Given the description of an element on the screen output the (x, y) to click on. 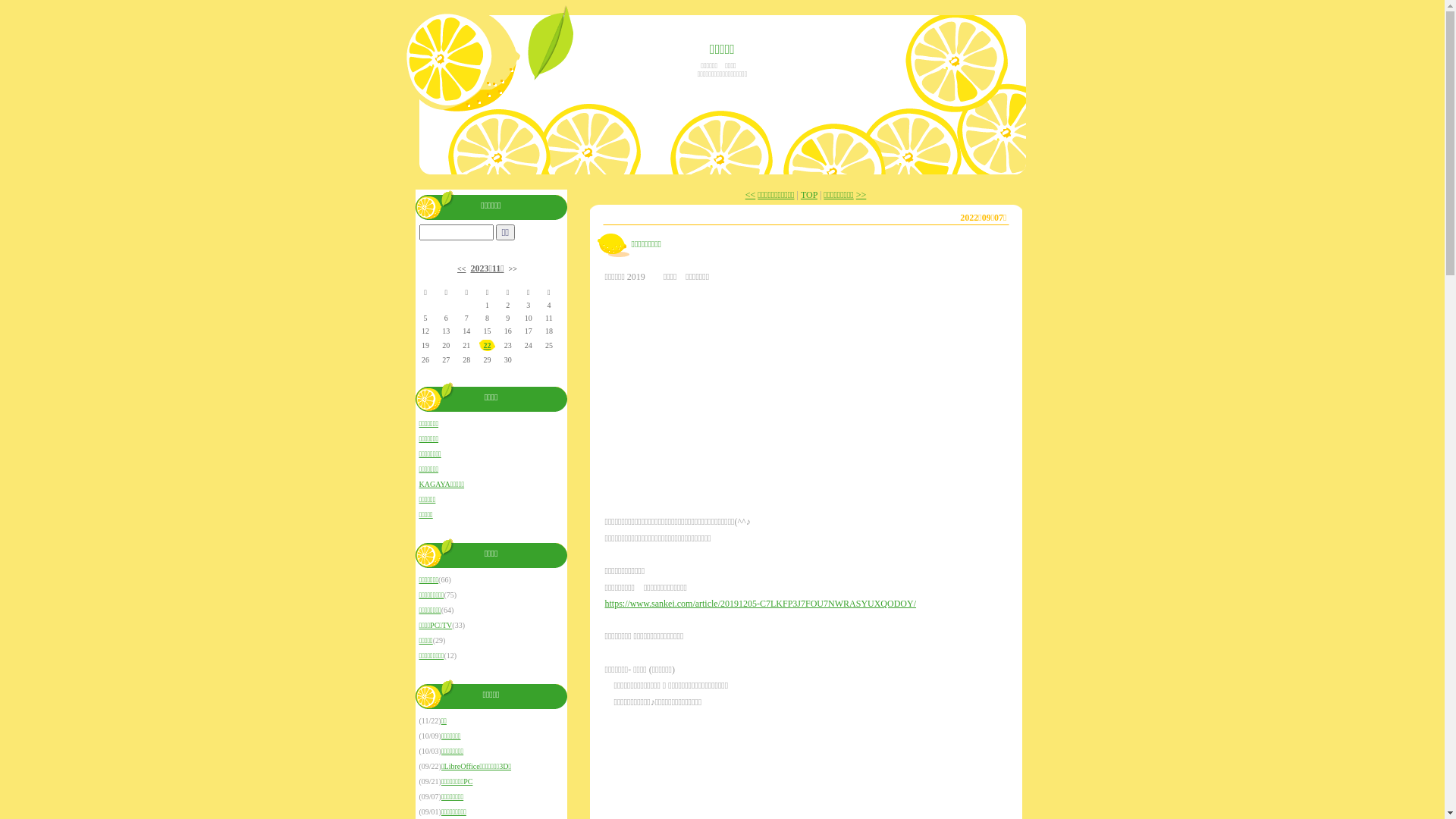
TOP Element type: text (808, 194)
>> Element type: text (861, 194)
22 Element type: text (487, 345)
<< Element type: text (750, 194)
<< Element type: text (461, 268)
YouTube video player Element type: hover (794, 391)
